Given the description of an element on the screen output the (x, y) to click on. 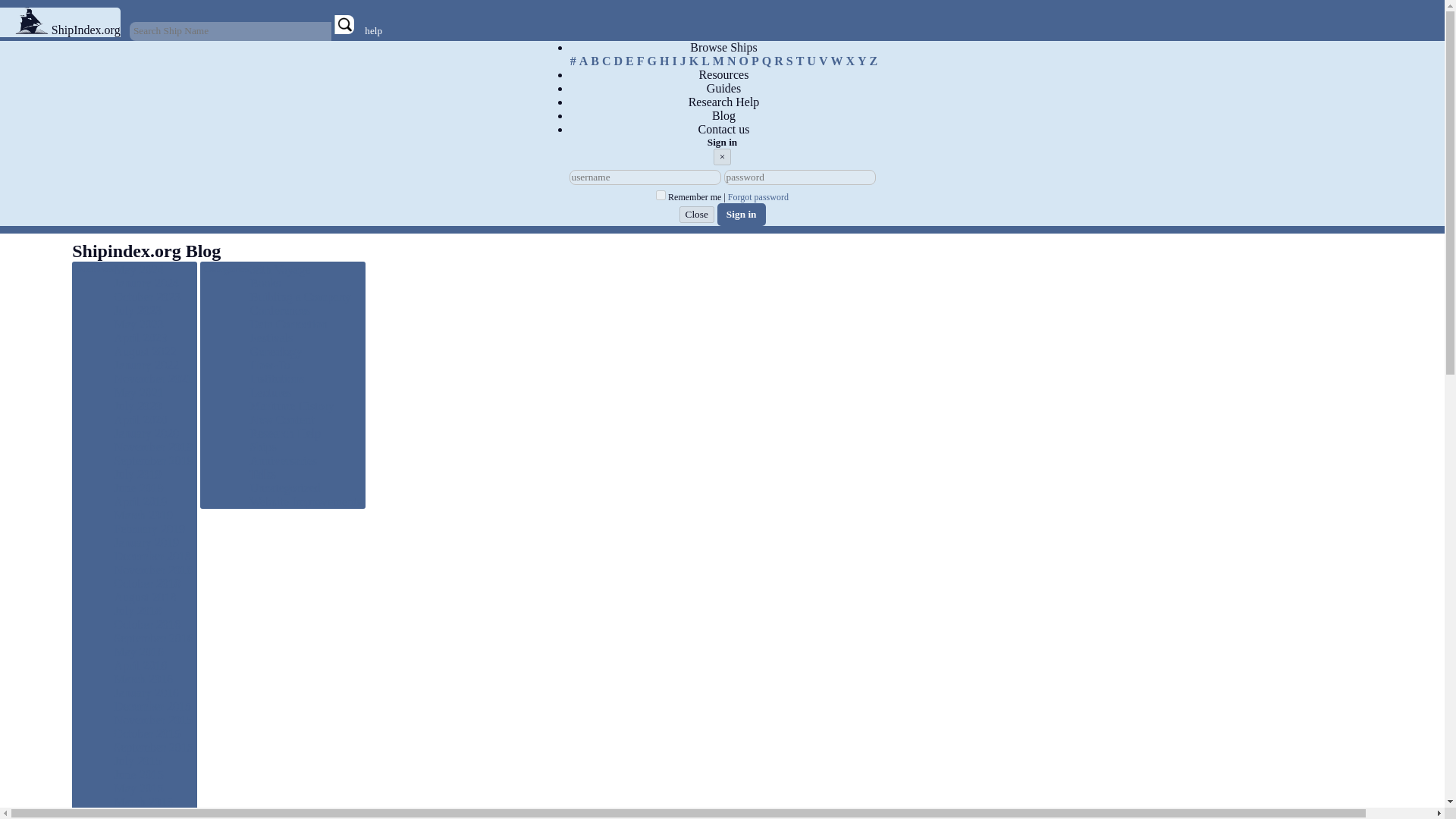
ShipIndex.org (85, 29)
Contact us (723, 129)
Resources (723, 74)
Research Help (724, 101)
Guides (723, 88)
1 (660, 194)
Close (696, 214)
help (373, 30)
Forgot password (758, 197)
W (836, 60)
Blog (723, 115)
Browse Ships (723, 47)
Sign in (741, 214)
